Given the description of an element on the screen output the (x, y) to click on. 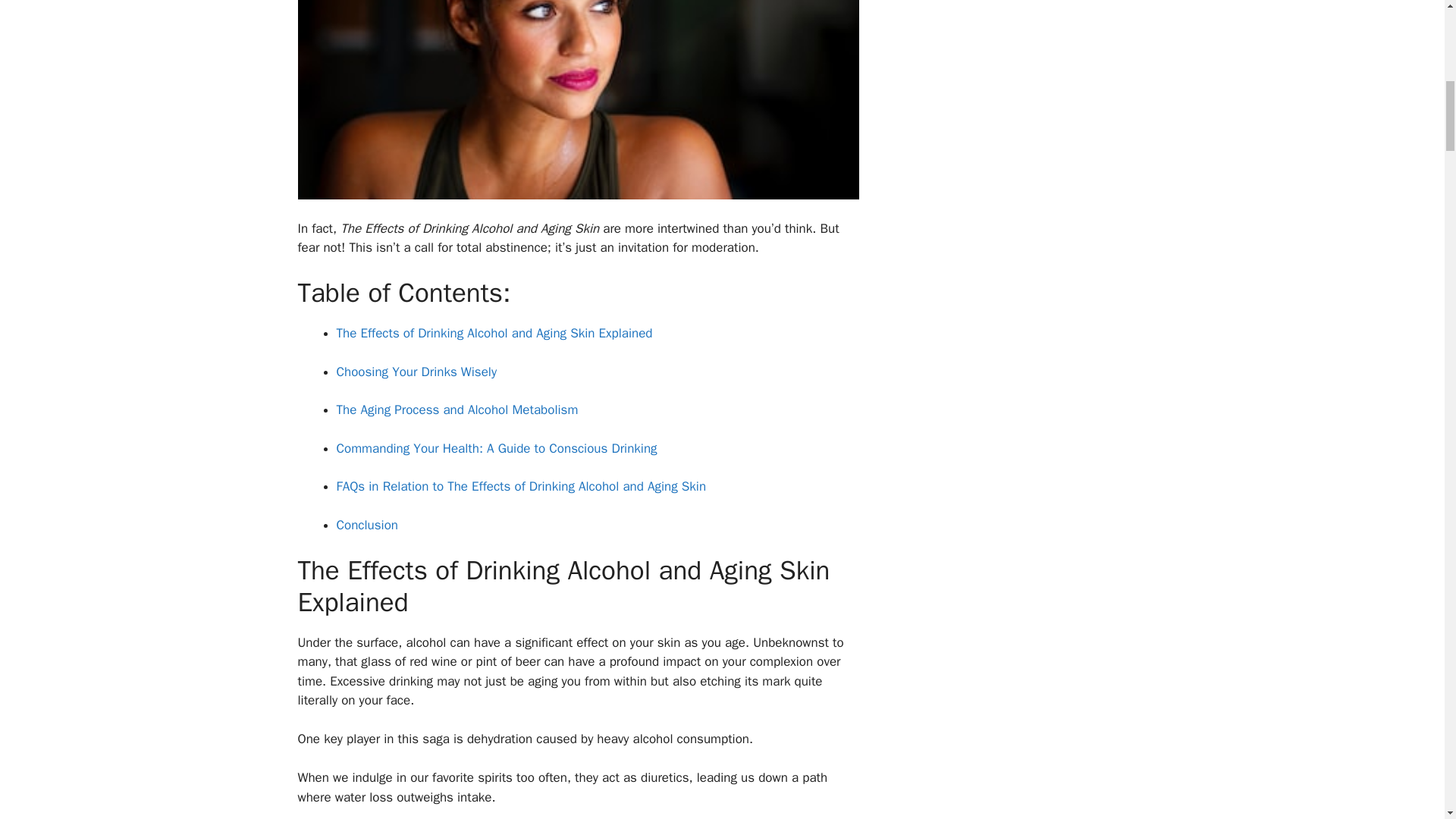
The Aging Process and Alcohol Metabolism (457, 409)
The Effects of Drinking Alcohol and Aging Skin Explained (494, 333)
Commanding Your Health: A Guide to Conscious Drinking (497, 448)
Choosing Your Drinks Wisely (416, 371)
Conclusion (366, 524)
